Given the description of an element on the screen output the (x, y) to click on. 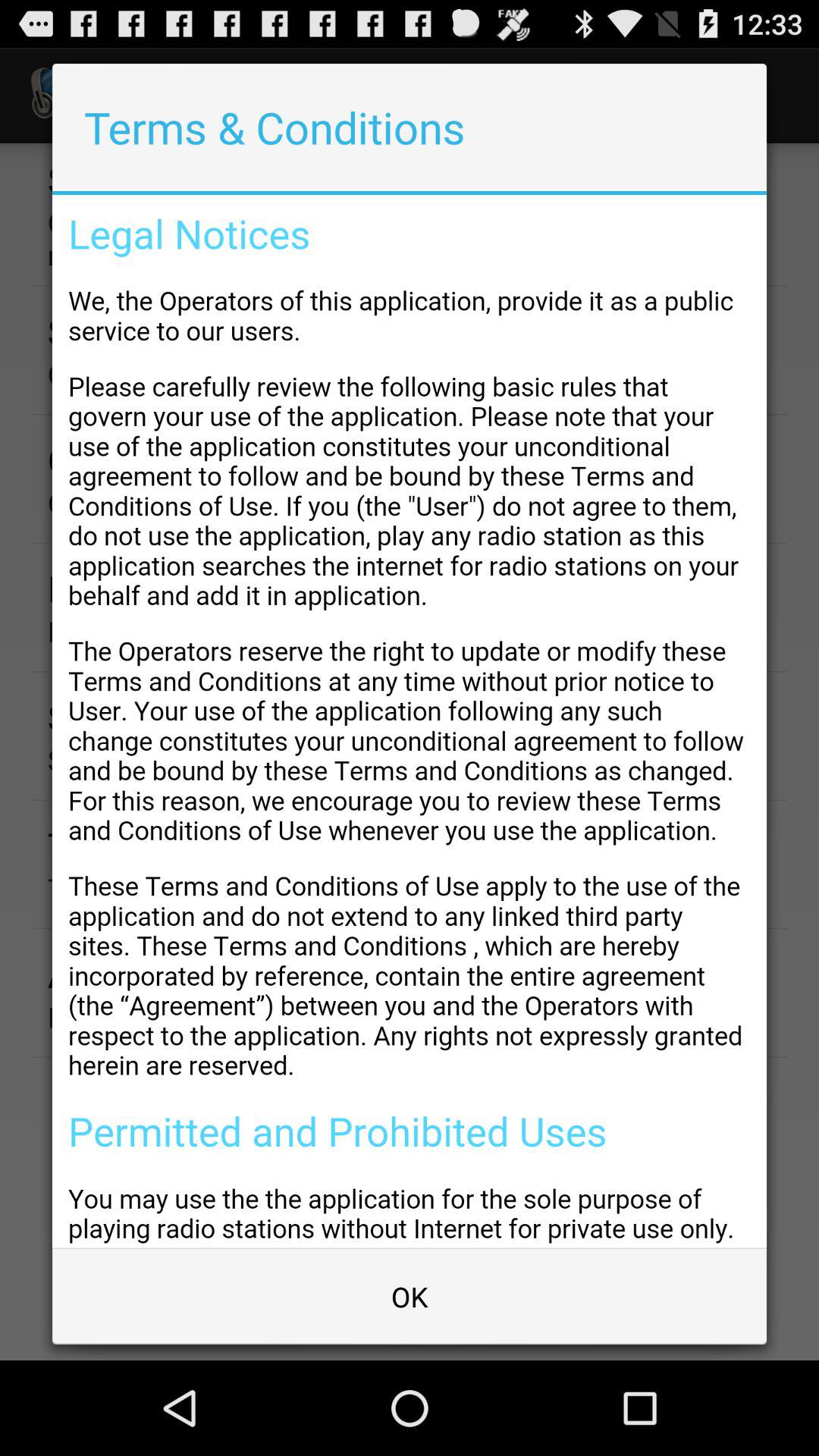
litters (409, 721)
